Given the description of an element on the screen output the (x, y) to click on. 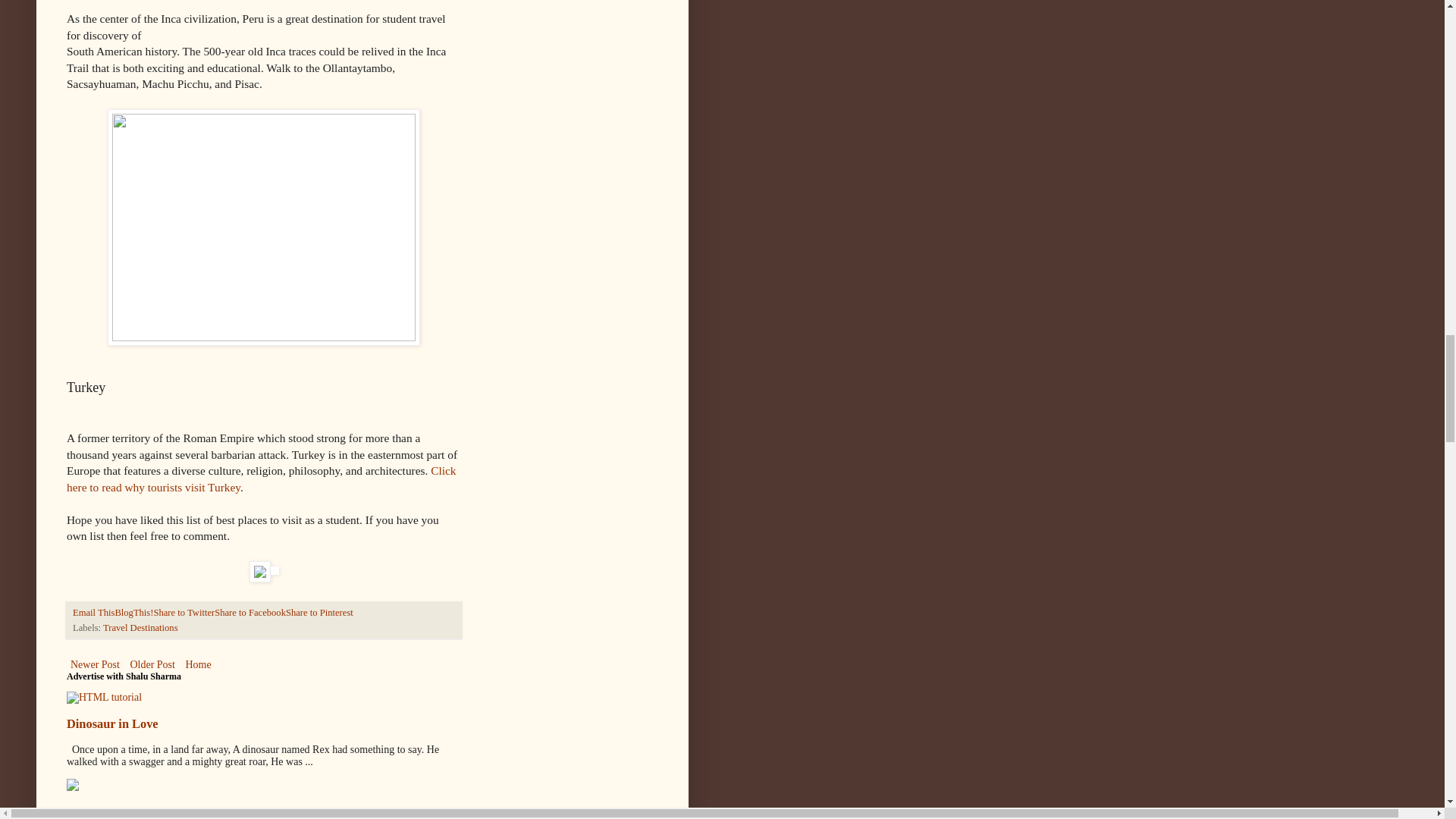
Share to Pinterest (319, 612)
Home (197, 664)
BlogThis! (133, 612)
Newer Post (94, 664)
Travel Destinations (140, 627)
Dinosaur in Love (112, 723)
BlogThis! (133, 612)
Share to Facebook (249, 612)
Email This (93, 612)
Share to Pinterest (319, 612)
Email This (93, 612)
Older Post (152, 664)
Share to Twitter (183, 612)
Share to Facebook (249, 612)
Click here to read why tourists visit Turkey (261, 478)
